Given the description of an element on the screen output the (x, y) to click on. 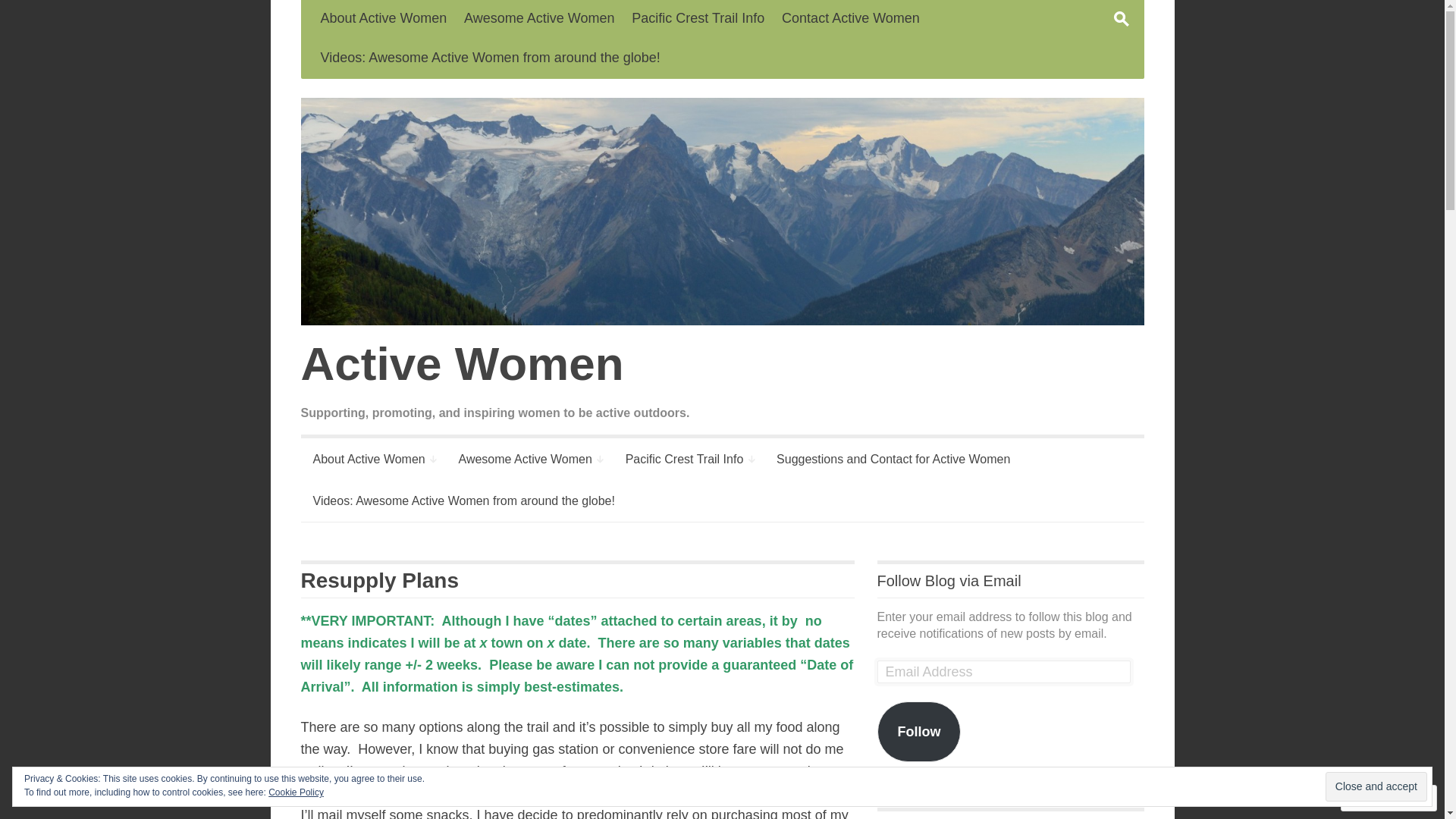
About Active Women Element type: text (383, 19)
Awesome Active Women Element type: text (528, 459)
Pacific Crest Trail Info Element type: text (687, 459)
Follow Element type: text (1375, 797)
Videos: Awesome Active Women from around the globe! Element type: text (463, 500)
Contact Active Women Element type: text (850, 19)
Suggestions and Contact for Active Women Element type: text (893, 459)
About Active Women Element type: text (371, 459)
Awesome Active Women Element type: text (539, 19)
Videos: Awesome Active Women from around the globe! Element type: text (489, 58)
Active Women Element type: text (721, 447)
Close and accept Element type: text (1376, 786)
Cookie Policy Element type: text (295, 792)
Pacific Crest Trail Info Element type: text (697, 19)
Follow Element type: text (918, 731)
Active Women Element type: hover (721, 211)
